Given the description of an element on the screen output the (x, y) to click on. 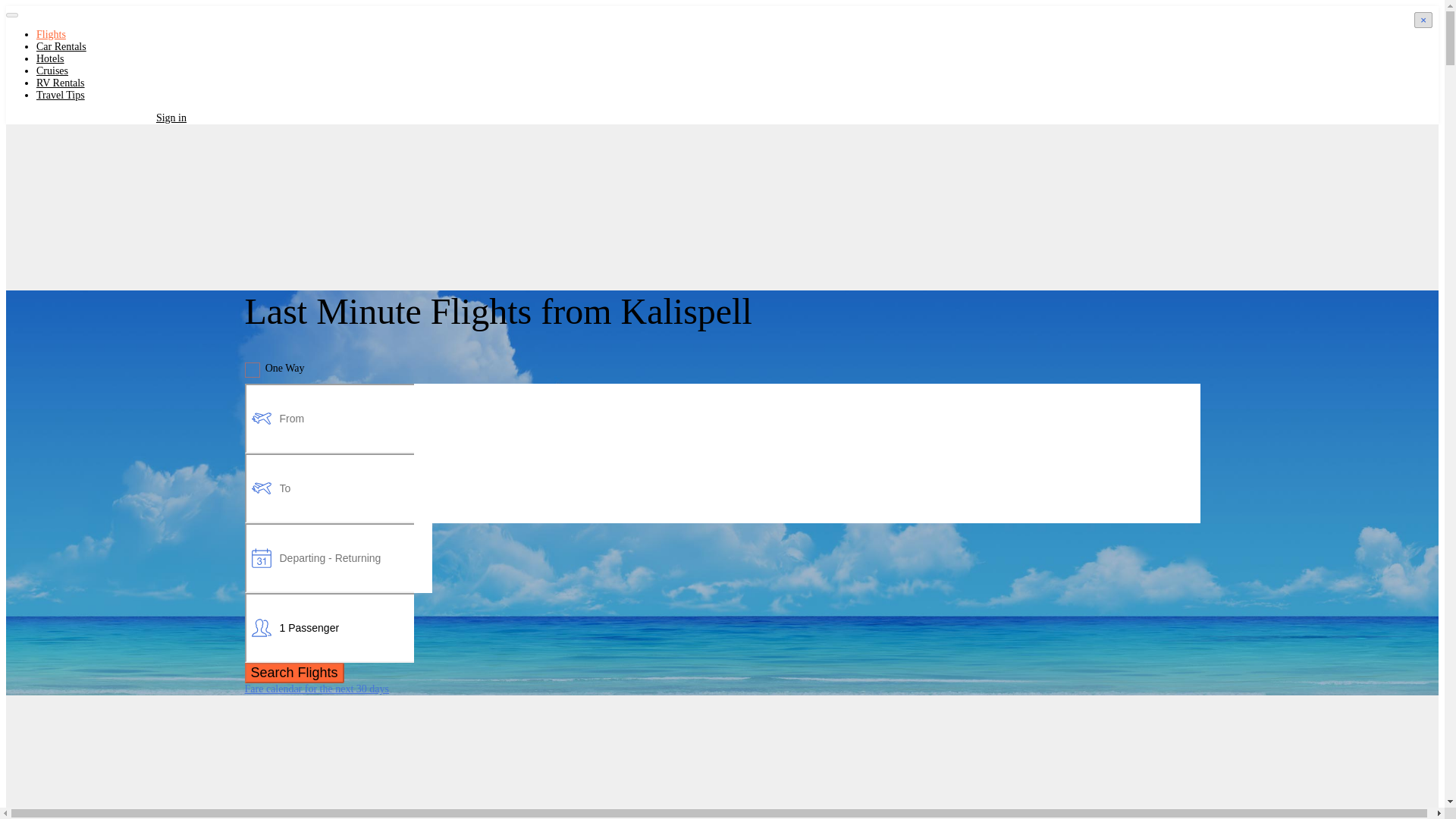
Fare calendar for the next 30 days (316, 688)
Travel Tips (60, 94)
Cruises (52, 70)
RV Rentals (60, 82)
Sign in (167, 117)
Flights (50, 34)
Car Rentals (60, 46)
Hotels (50, 58)
Search Flights (293, 672)
1 Passenger (328, 627)
